Given the description of an element on the screen output the (x, y) to click on. 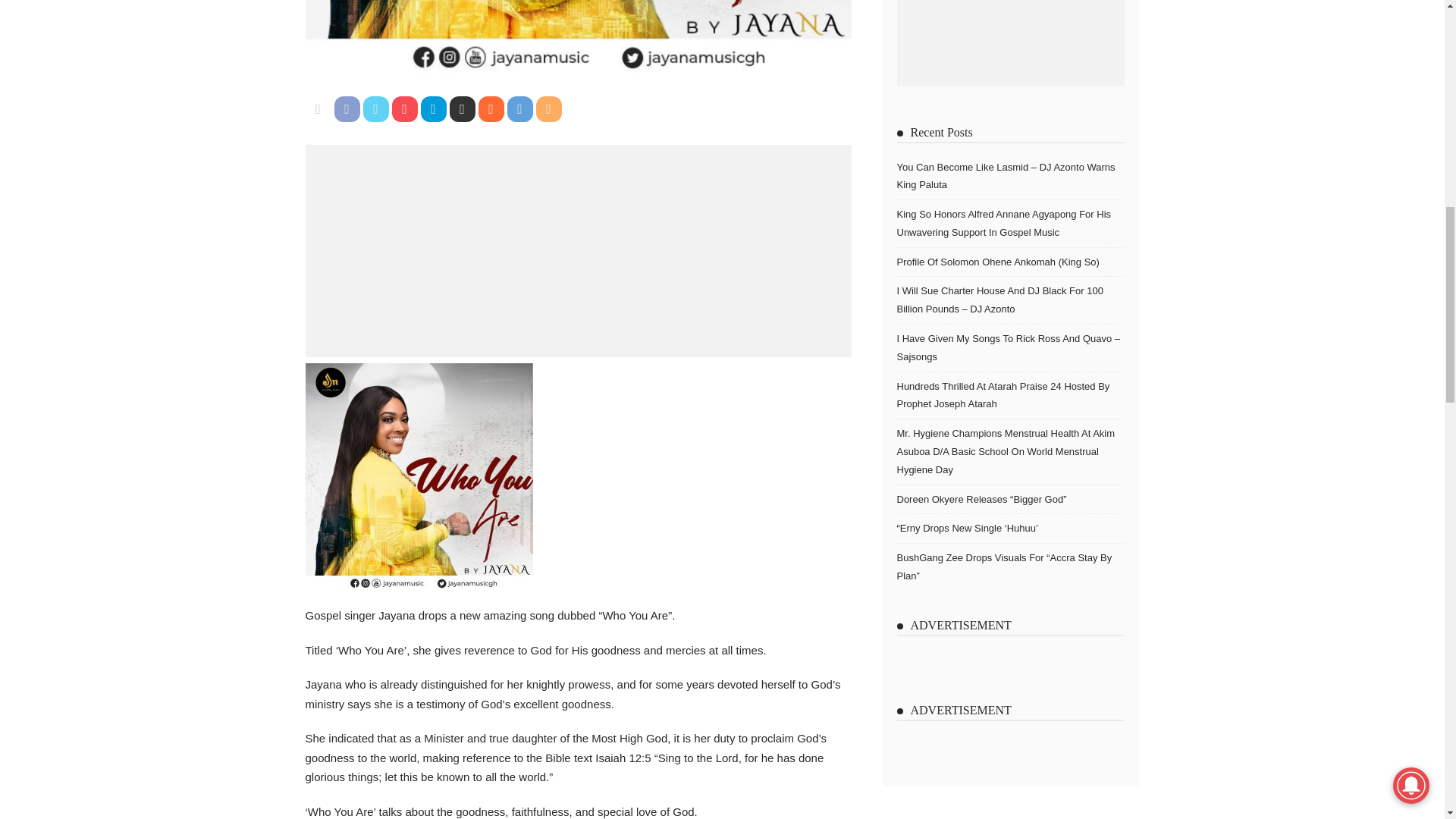
Advertisement (577, 250)
